Given the description of an element on the screen output the (x, y) to click on. 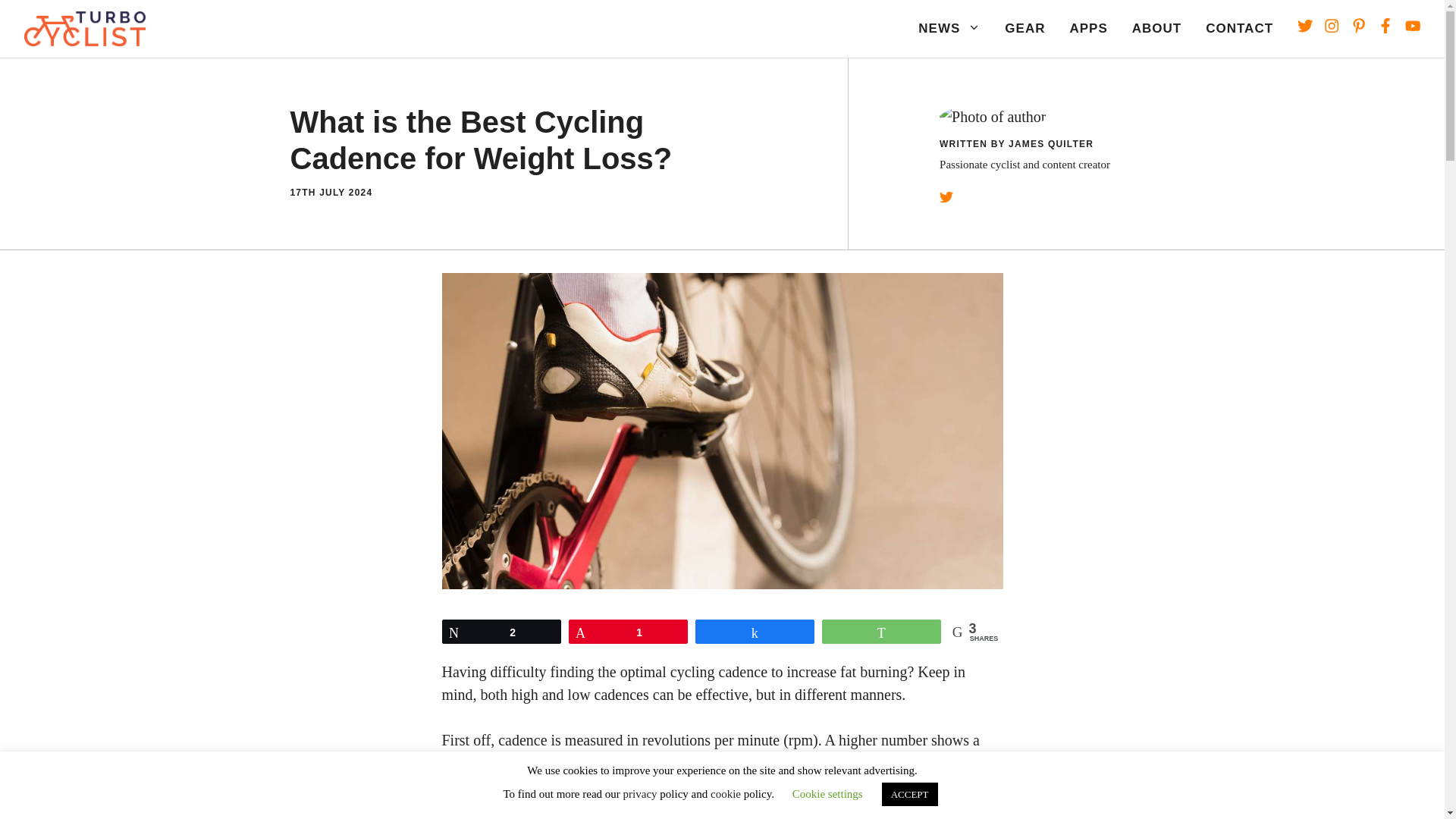
APPS (1088, 28)
CONTACT (1239, 28)
GEAR (1024, 28)
JAMES QUILTER (1051, 143)
NEWS (948, 28)
1 (628, 630)
2 (501, 630)
ABOUT (1156, 28)
